Given the description of an element on the screen output the (x, y) to click on. 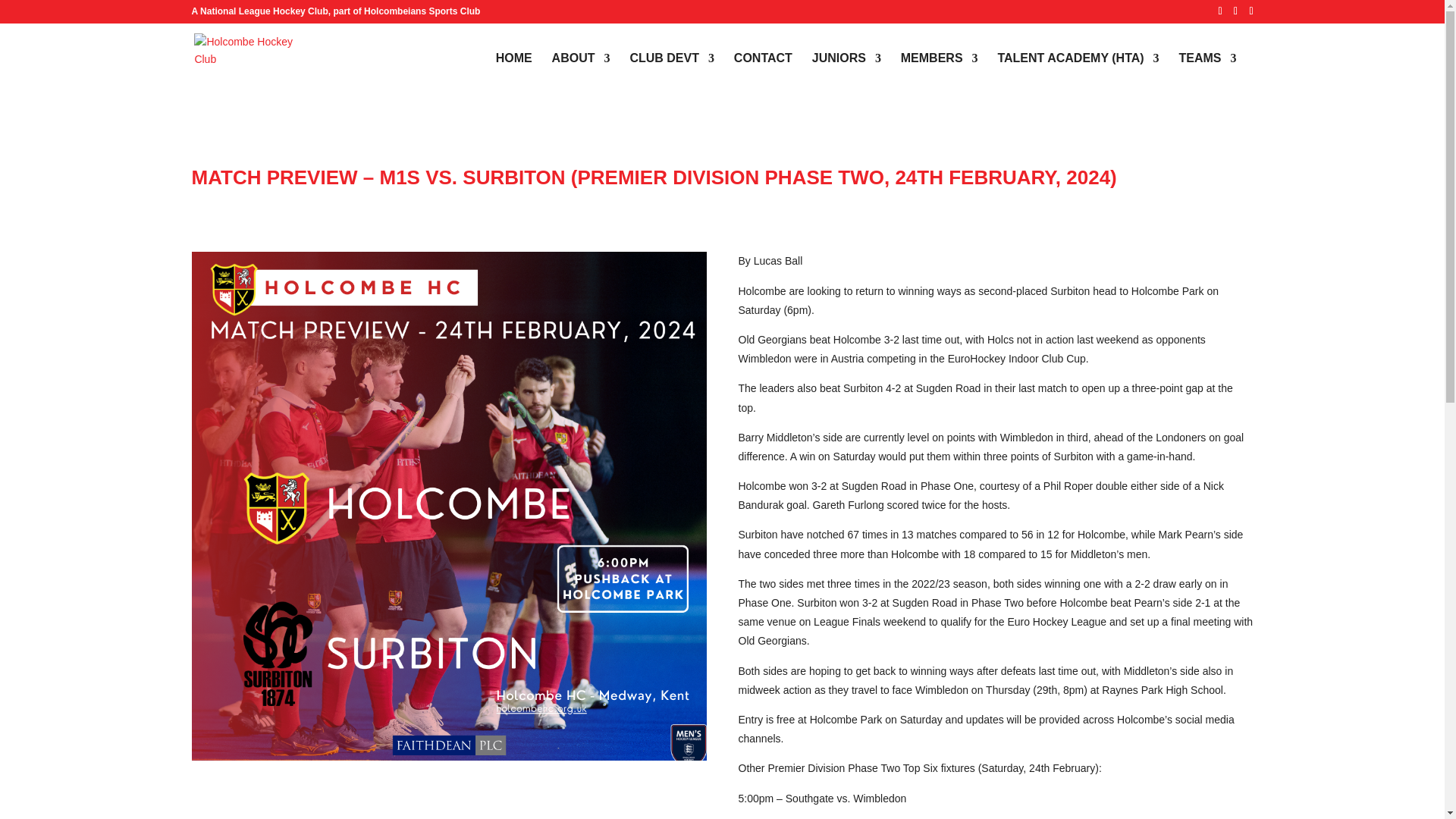
JUNIORS (846, 73)
CLUB DEVT (671, 73)
ABOUT (580, 73)
MEMBERS (939, 73)
CONTACT (762, 73)
